Given the description of an element on the screen output the (x, y) to click on. 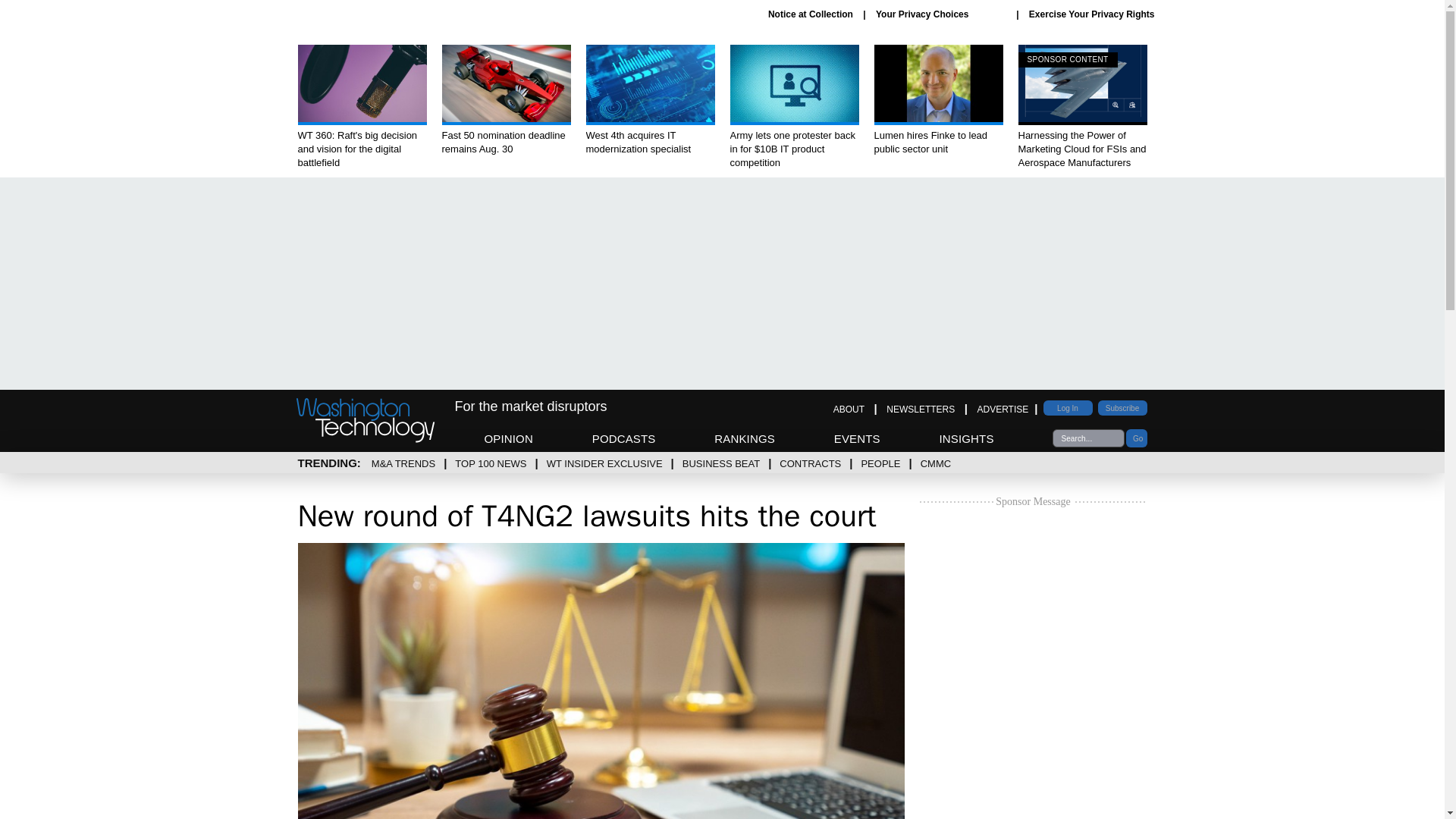
ABOUT (848, 409)
West 4th acquires IT modernization specialist (649, 100)
ADVERTISE (1001, 409)
Your Privacy Choices (941, 14)
RANKINGS (744, 438)
Lumen hires Finke to lead public sector unit (938, 100)
PODCASTS (624, 438)
EVENTS (857, 438)
